Given the description of an element on the screen output the (x, y) to click on. 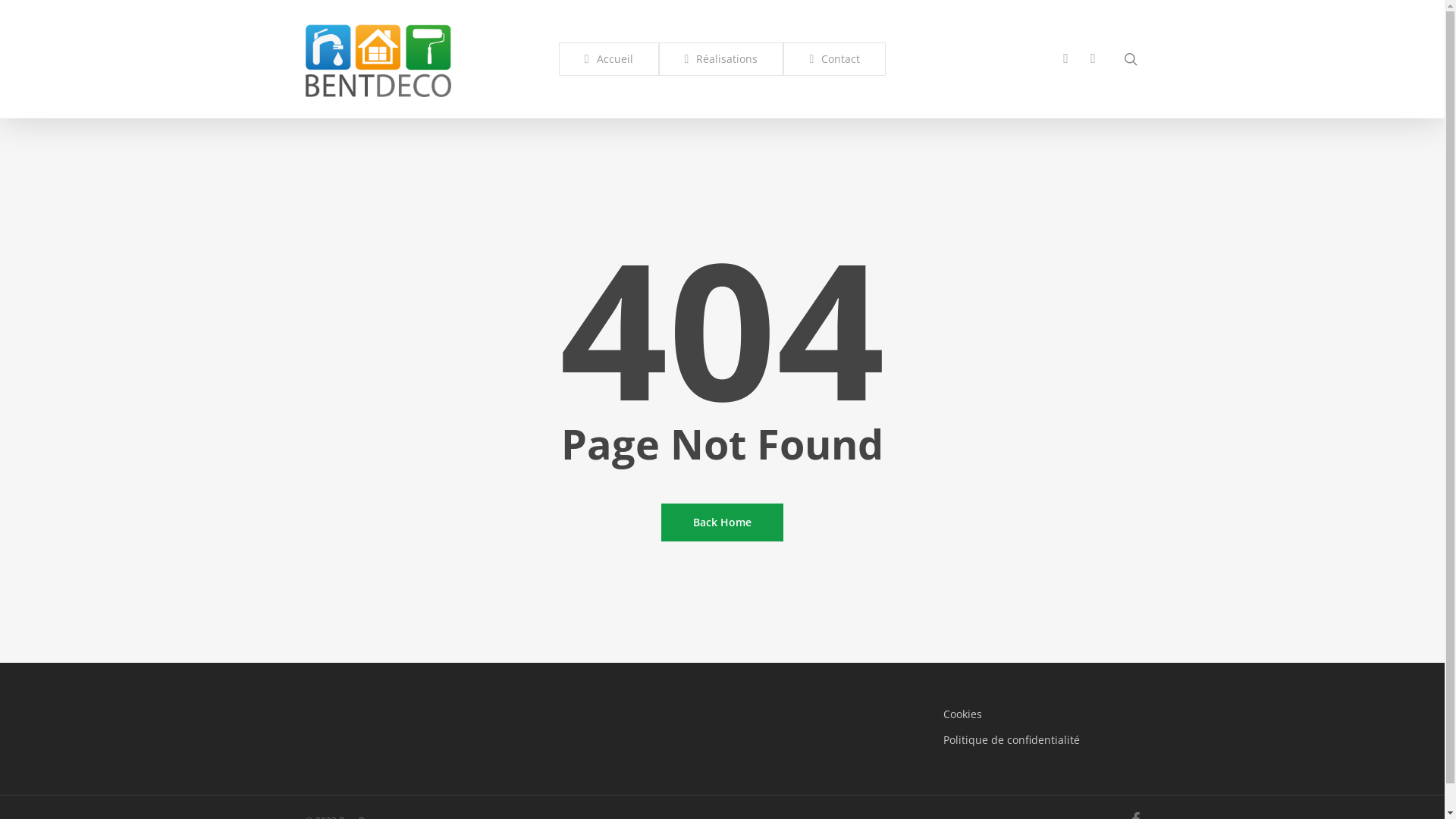
email Element type: text (1093, 58)
Cookies Element type: text (1041, 714)
Contact Element type: text (834, 58)
Back Home Element type: text (722, 522)
Accueil Element type: text (608, 58)
search Element type: text (1129, 58)
phone Element type: text (1065, 58)
